Given the description of an element on the screen output the (x, y) to click on. 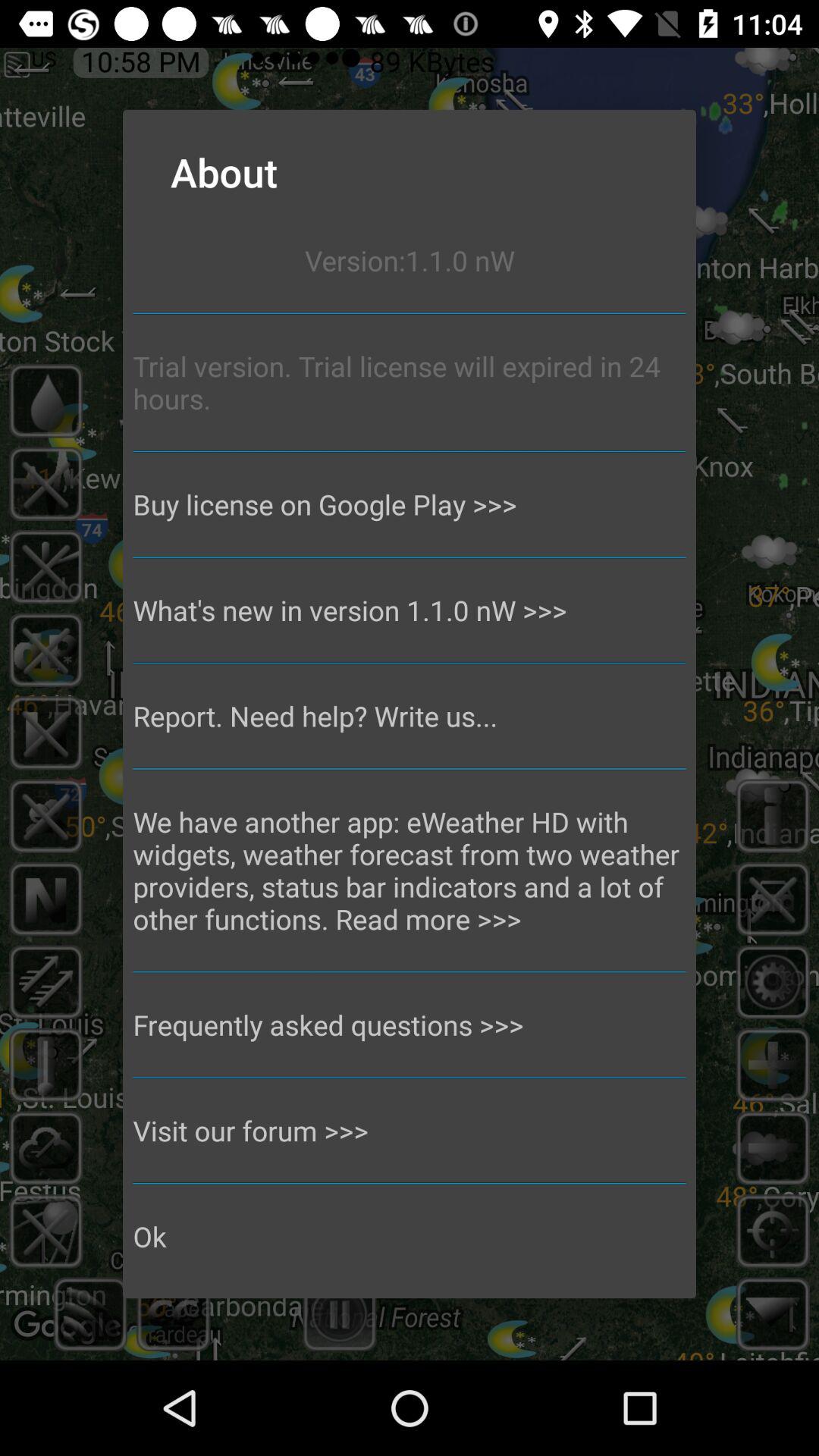
select report need help (409, 715)
